Given the description of an element on the screen output the (x, y) to click on. 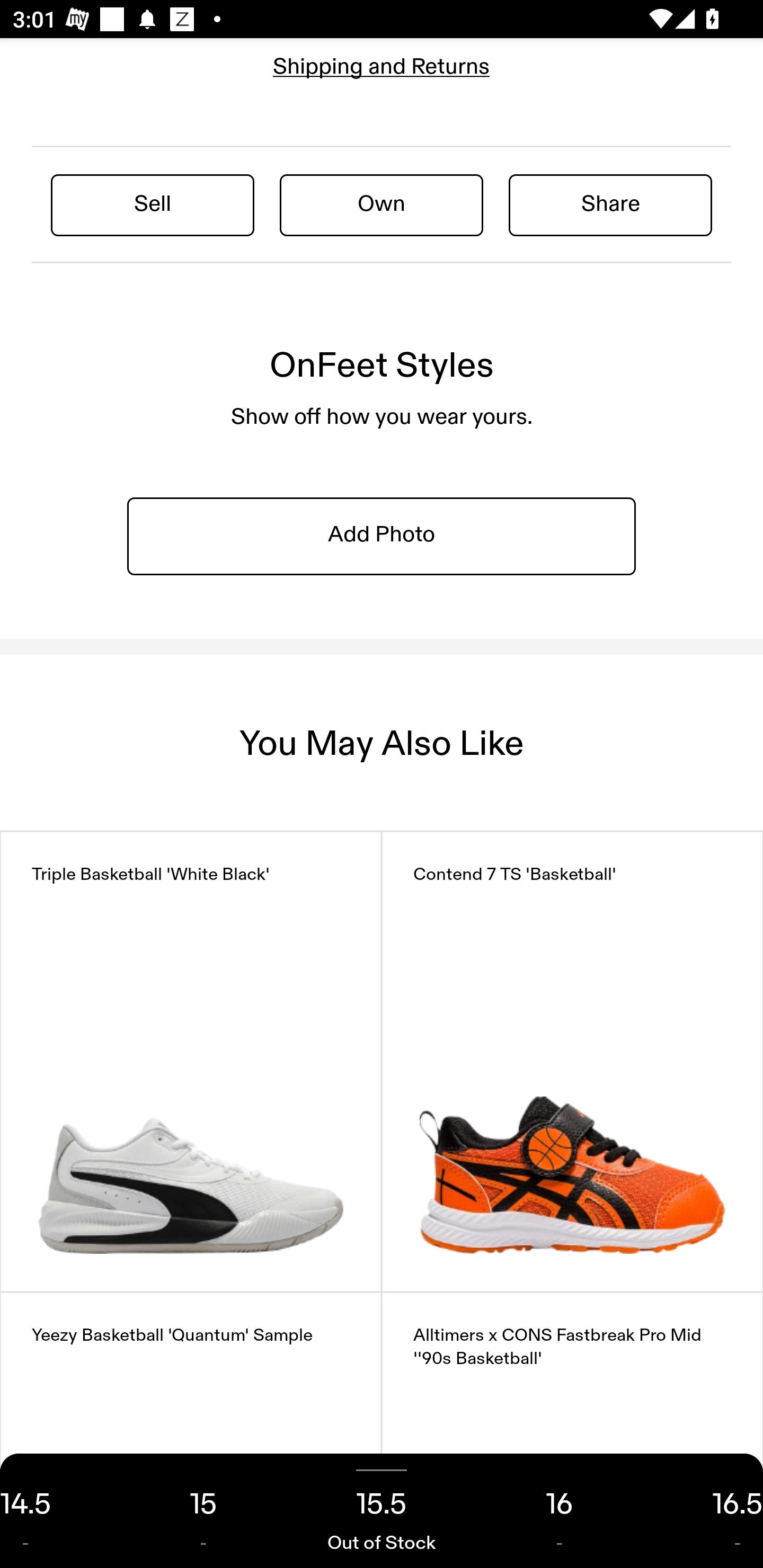
Shipping and Returns (381, 66)
Sell (152, 204)
Own (381, 204)
Share (609, 204)
Add Photo (381, 535)
Triple Basketball 'White Black' (190, 1061)
Contend 7 TS 'Basketball' (572, 1061)
Yeezy Basketball 'Quantum' Sample (190, 1430)
14.5 - (57, 1510)
15 - (203, 1510)
15.5 Out of Stock (381, 1510)
16 - (559, 1510)
16.5 - (705, 1510)
